Given the description of an element on the screen output the (x, y) to click on. 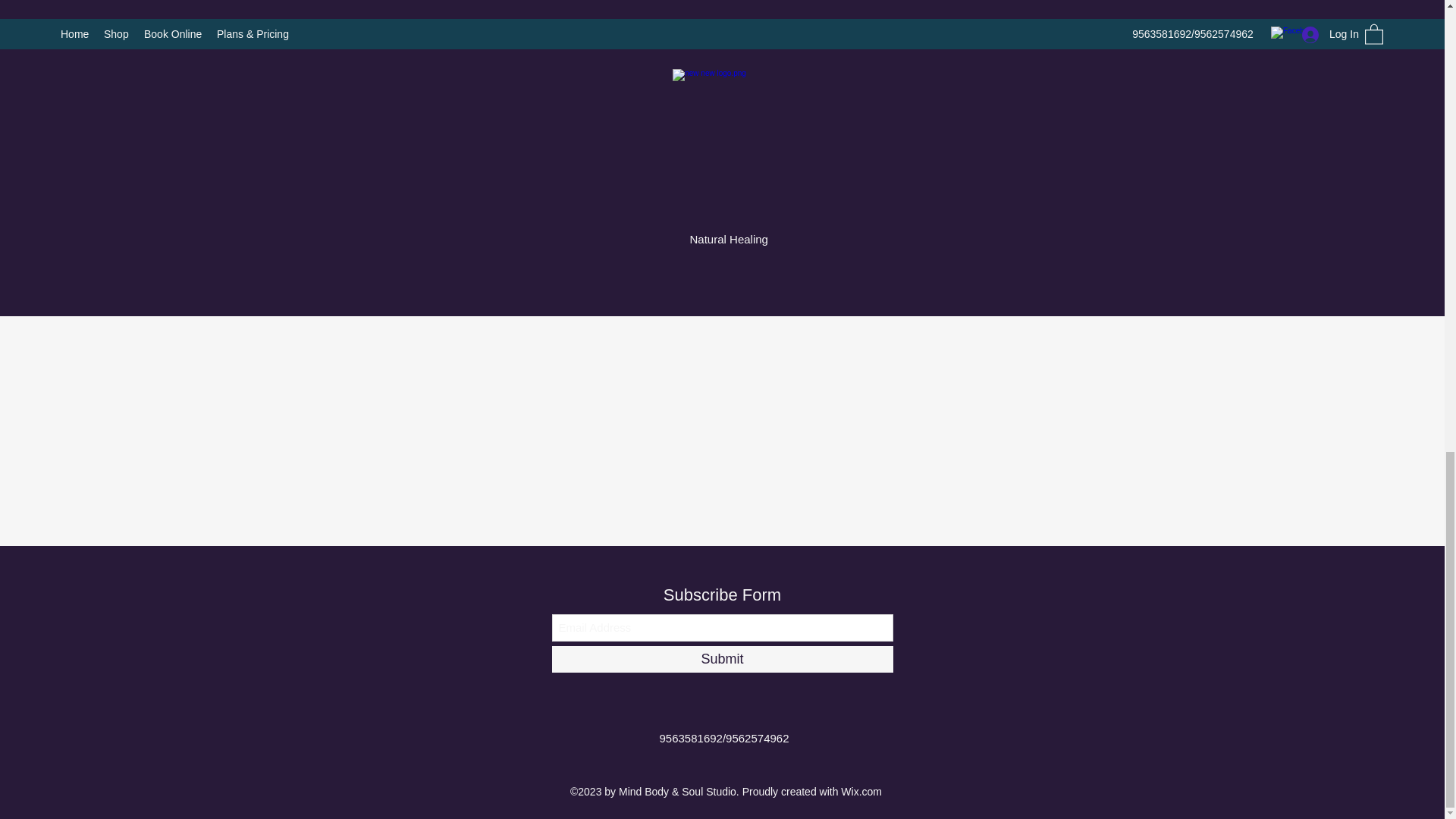
1 (893, 78)
Add to Cart (959, 133)
Submit (722, 659)
